Given the description of an element on the screen output the (x, y) to click on. 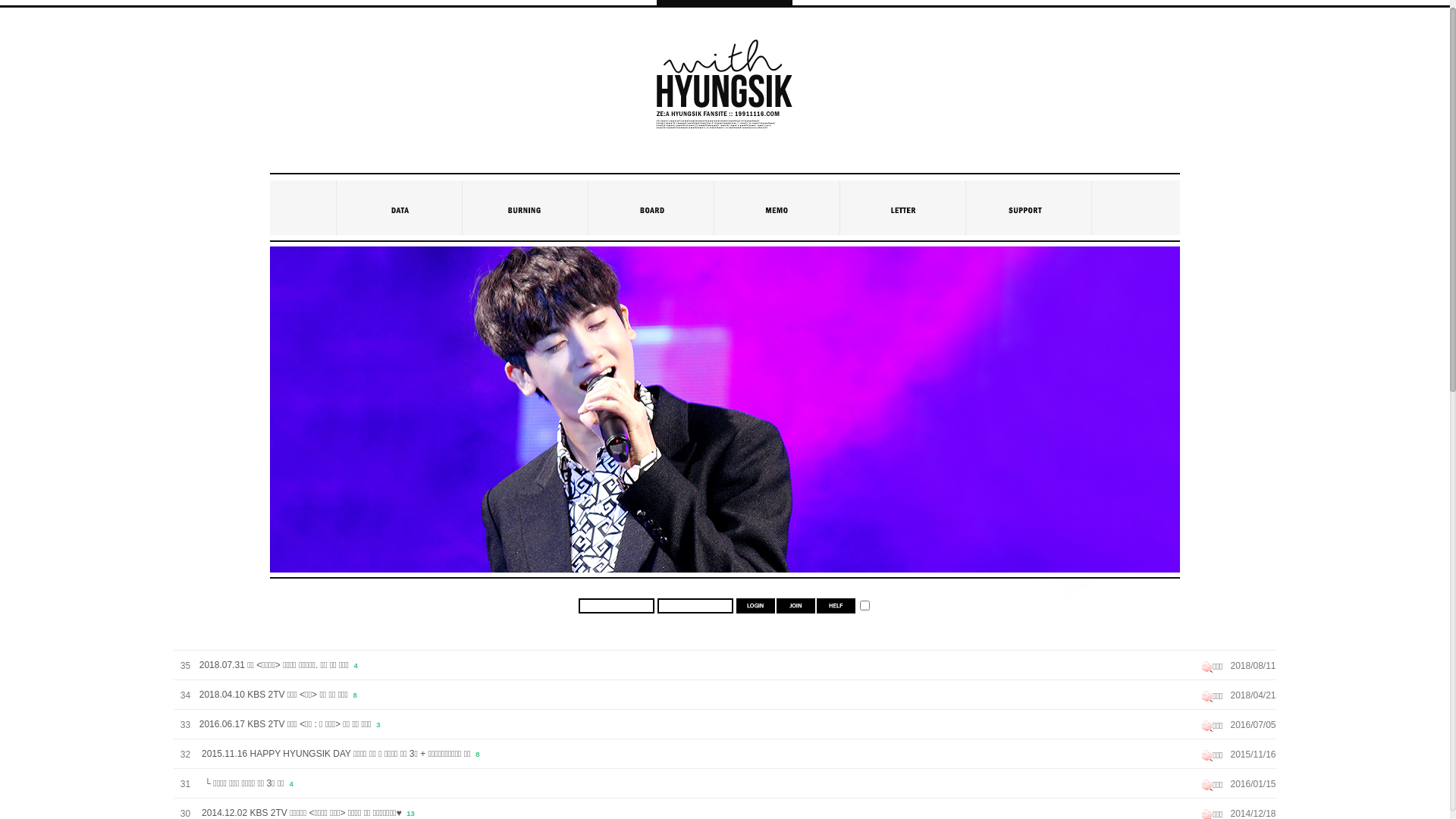
1 Element type: text (864, 605)
